Given the description of an element on the screen output the (x, y) to click on. 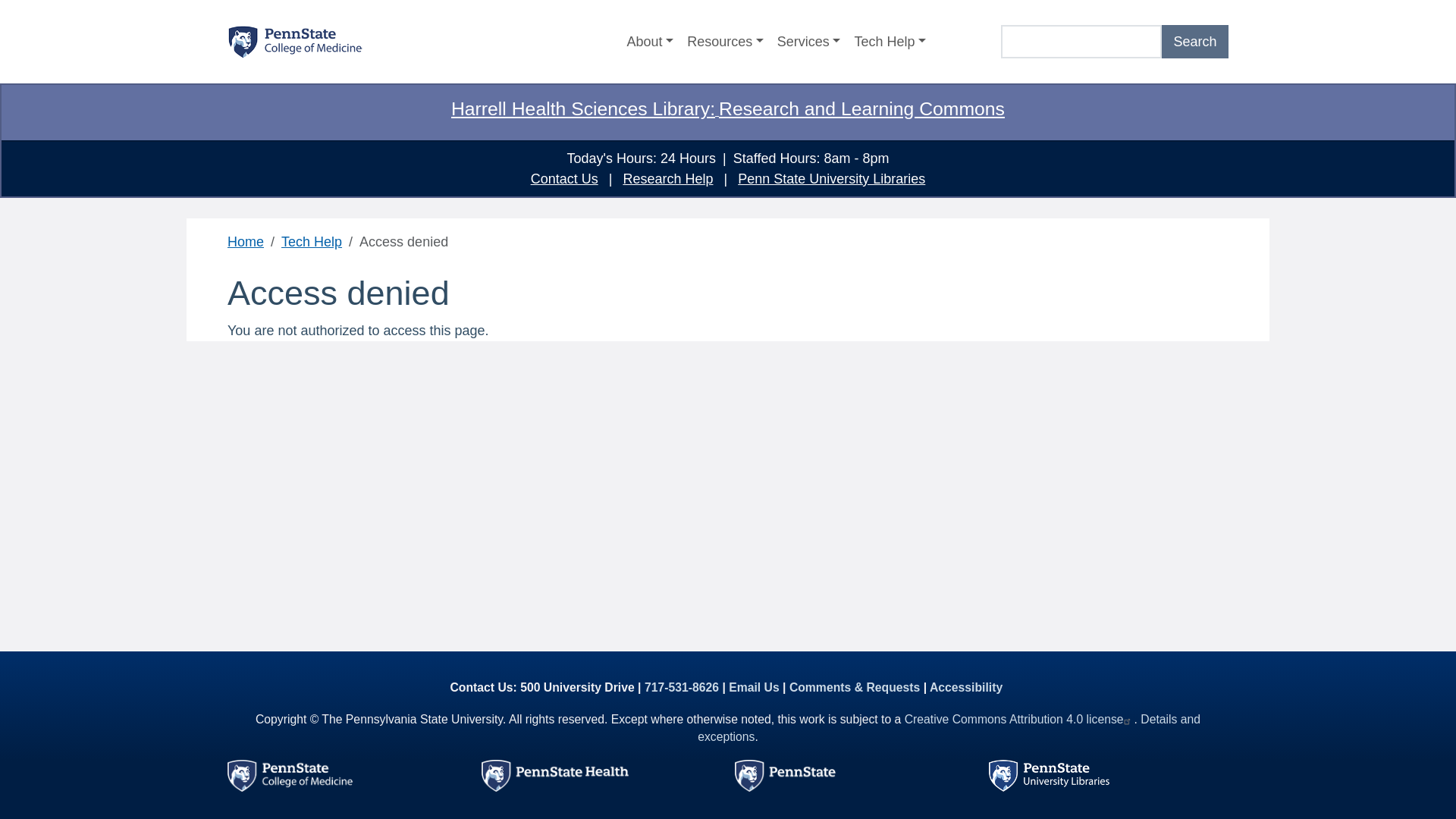
Search (1194, 41)
Resources (724, 41)
Expand menu Services (808, 41)
Search (1194, 41)
Home (294, 41)
Tech Help (890, 41)
About (650, 41)
Services (808, 41)
Expand menu About (650, 41)
Enter the terms you wish to search for. (1081, 41)
